Given the description of an element on the screen output the (x, y) to click on. 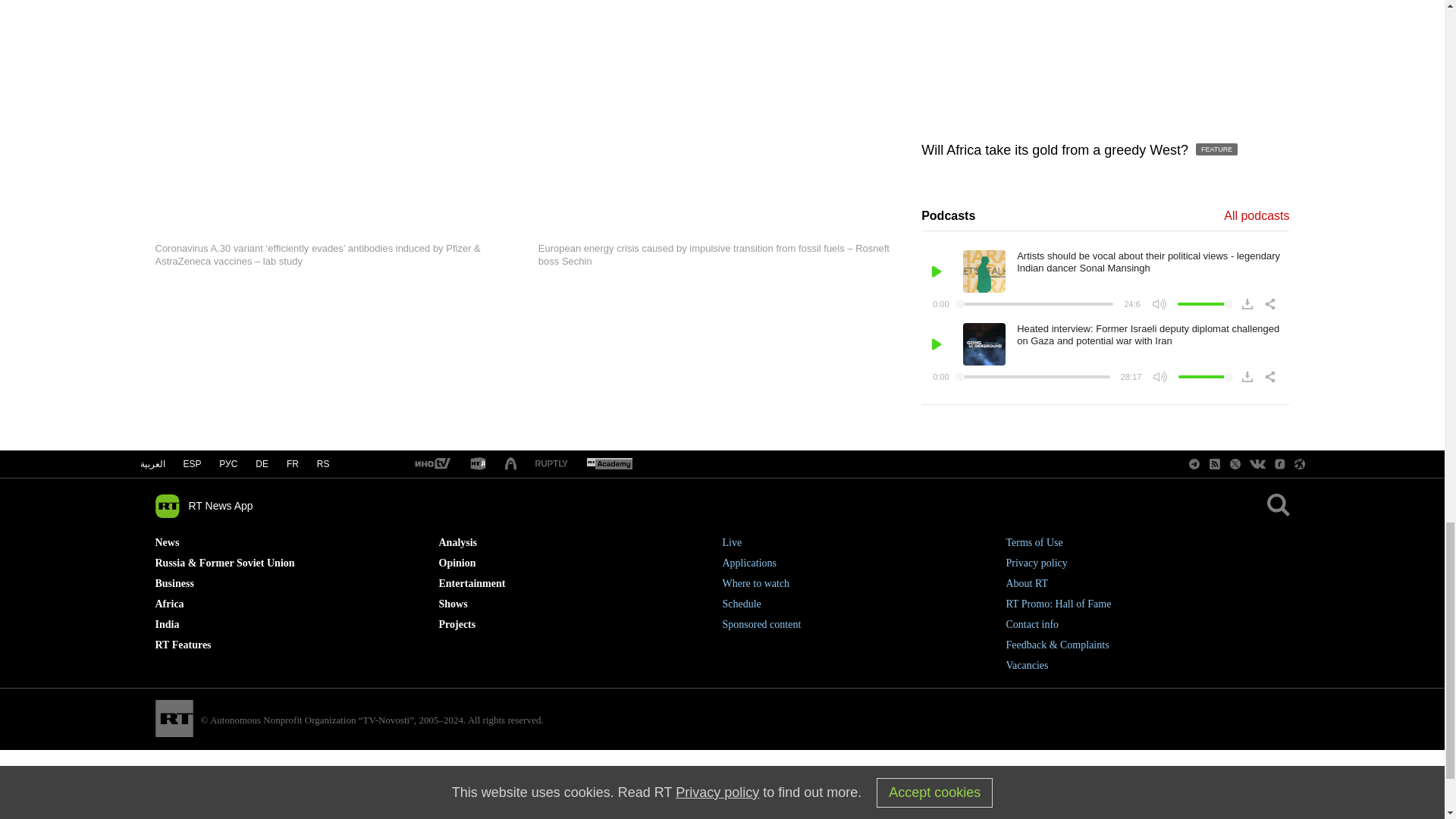
RT  (478, 464)
RT  (608, 463)
RT  (551, 464)
RT  (431, 463)
